Given the description of an element on the screen output the (x, y) to click on. 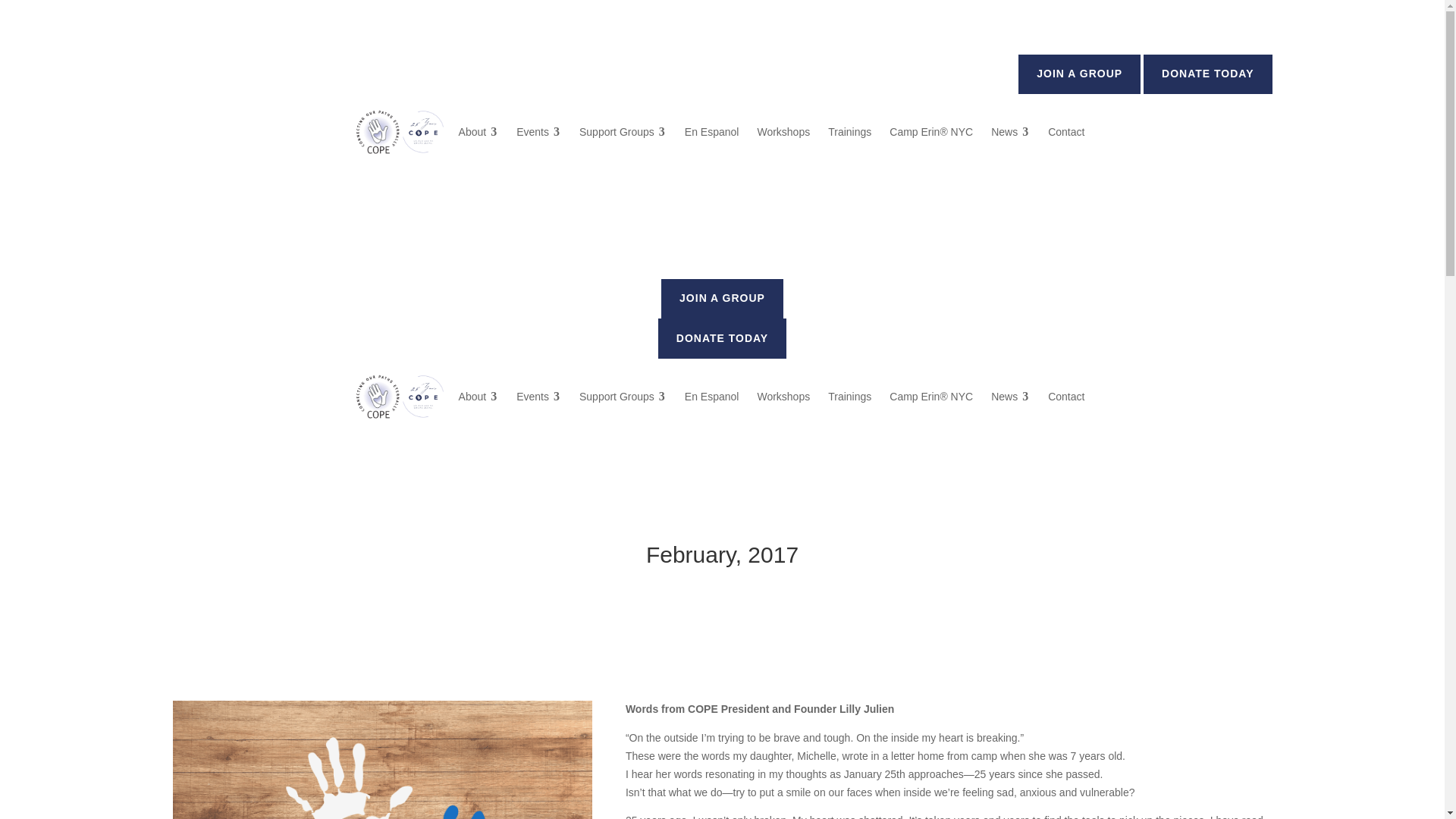
JOIN A GROUP (1078, 74)
About (478, 131)
Support Groups (622, 131)
News (1010, 131)
Trainings (849, 131)
Contact (1066, 131)
Events (538, 131)
COPE Contributors (382, 760)
En Espanol (711, 131)
DONATE TODAY (1206, 74)
Workshops (783, 131)
